Given the description of an element on the screen output the (x, y) to click on. 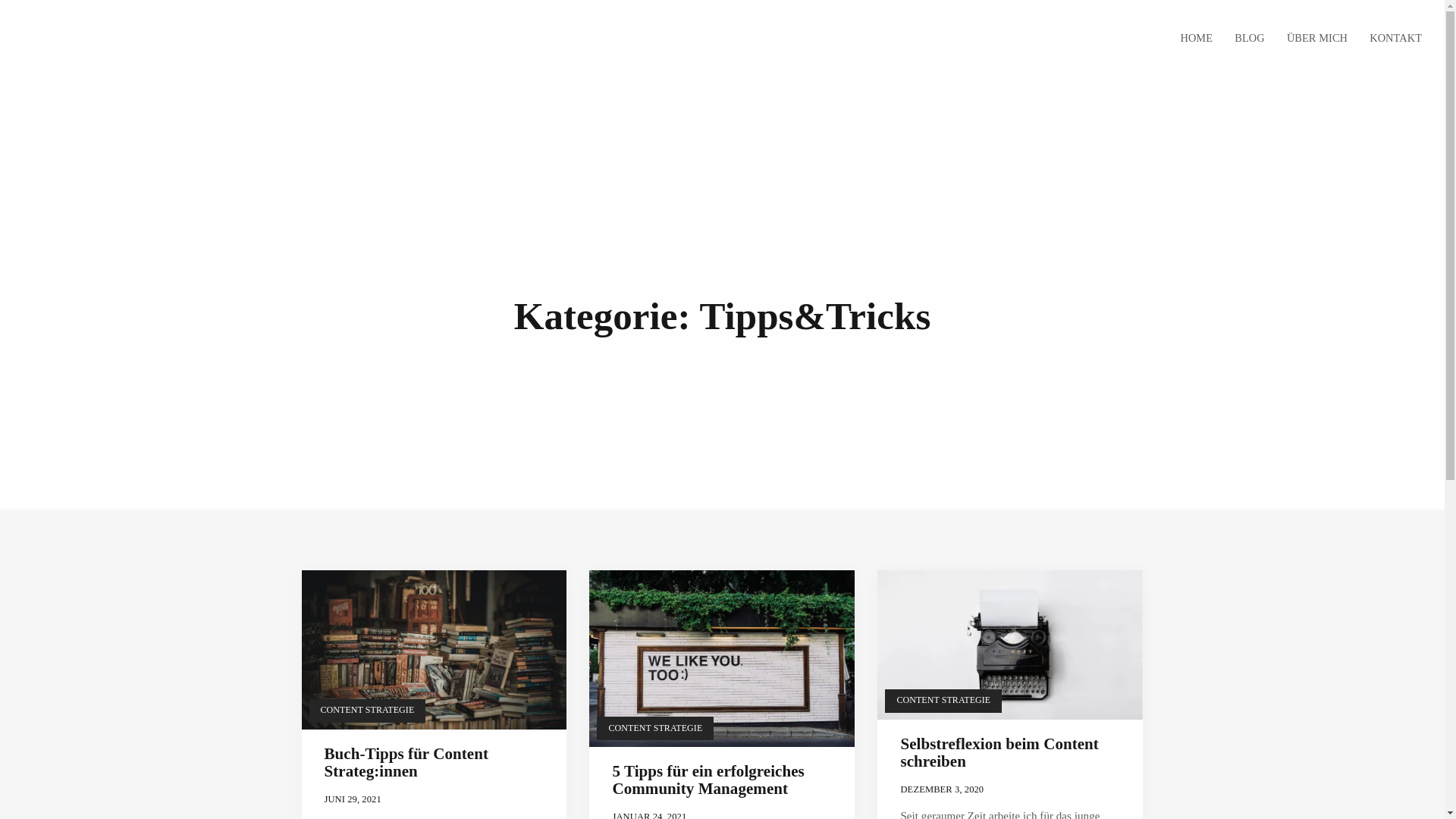
CONTENT STRATEGIE Element type: text (654, 728)
CONTENT STRATEGIE Element type: text (942, 700)
CONTENT STRATEGIE Element type: text (367, 710)
Selbstreflexion beim Content schreiben Element type: text (999, 752)
HOME Element type: text (1196, 38)
BLOG Element type: text (1249, 38)
KONTAKT Element type: text (1389, 38)
